Given the description of an element on the screen output the (x, y) to click on. 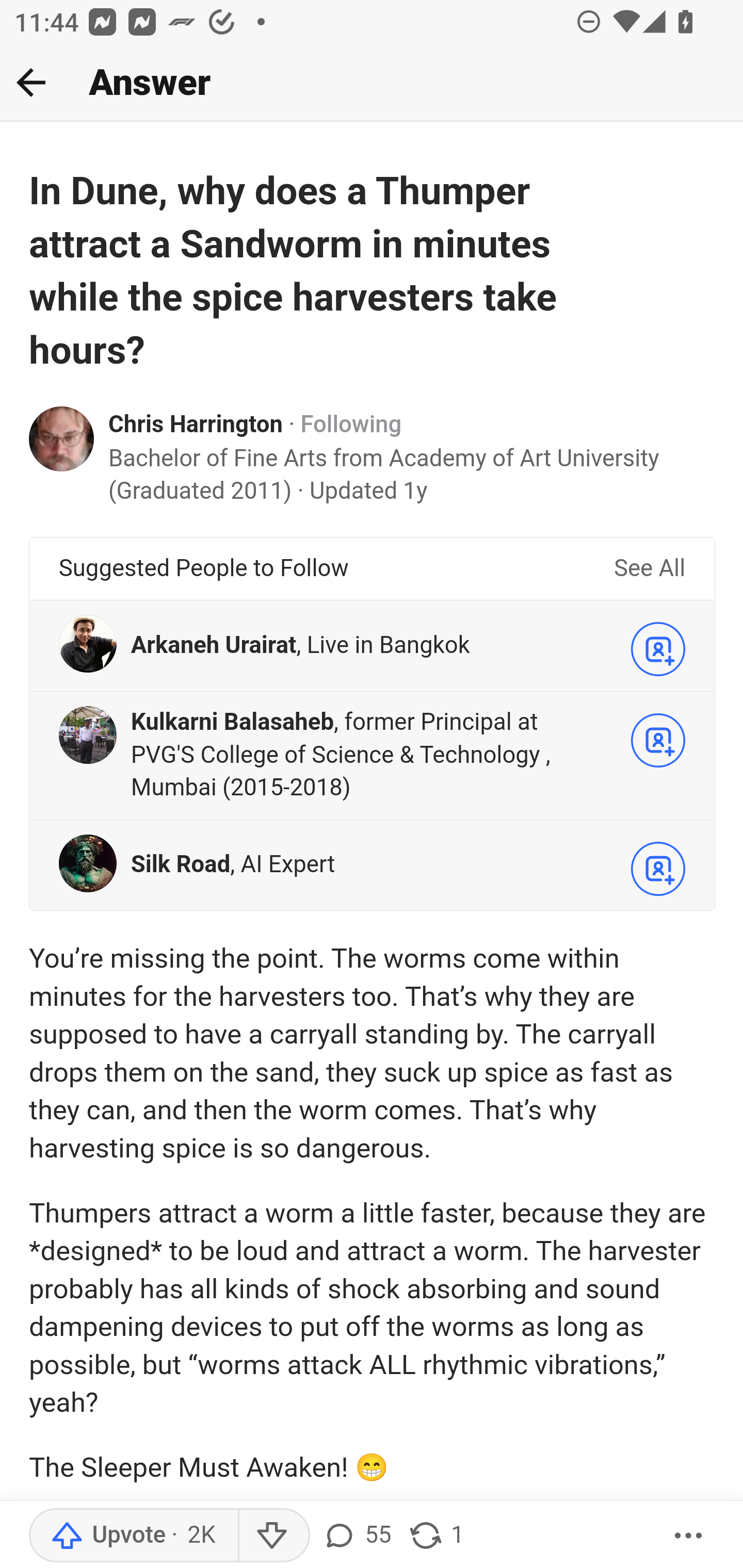
Me Home Search Add (371, 82)
Back (30, 82)
Profile photo for Chris Harrington (61, 437)
Chris Harrington (195, 425)
Following (350, 425)
Updated 1y Updated  1 y (367, 491)
See All (649, 567)
Profile photo for Arkaneh Urairat (87, 644)
Follow Arkaneh Urairat (658, 648)
Arkaneh Urairat (213, 645)
Profile photo for Kulkarni Balasaheb (87, 734)
Kulkarni Balasaheb (232, 722)
Follow Kulkarni Balasaheb (658, 739)
Profile photo for Silk Road (87, 862)
Follow Silk Road (658, 867)
Silk Road (180, 864)
Upvote (133, 1535)
Downvote (273, 1535)
55 comments (356, 1535)
1 share (435, 1535)
More (688, 1535)
